Given the description of an element on the screen output the (x, y) to click on. 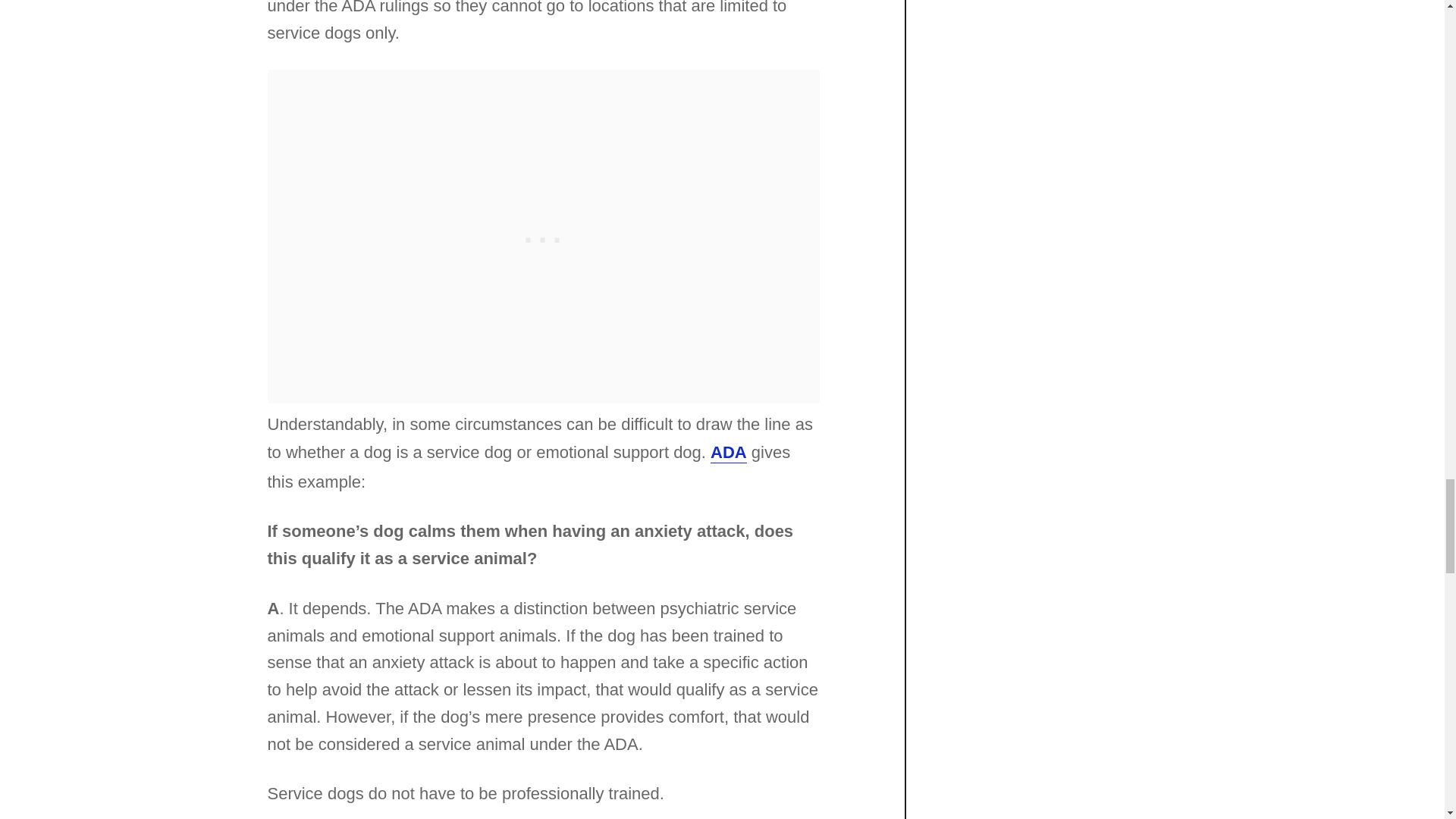
ADA (728, 453)
